Given the description of an element on the screen output the (x, y) to click on. 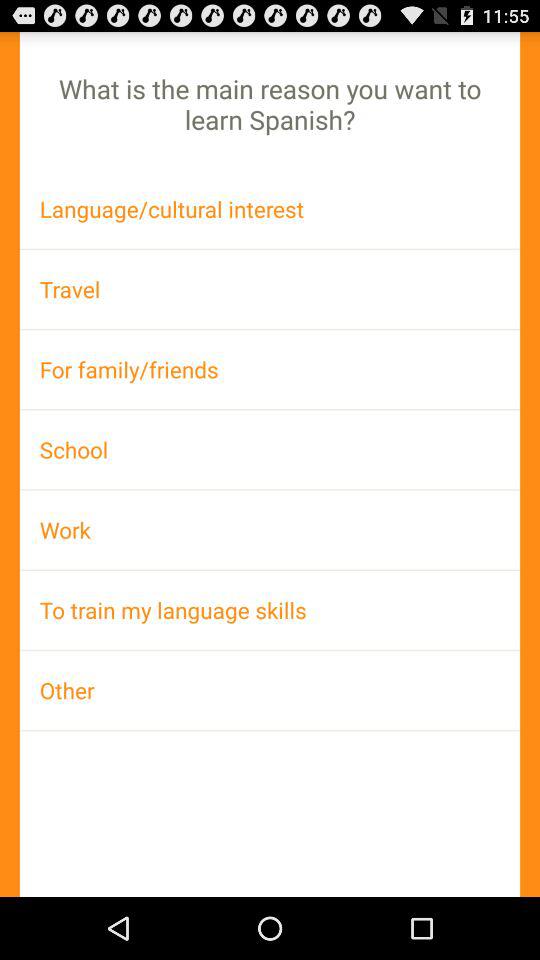
swipe to the school app (269, 449)
